Given the description of an element on the screen output the (x, y) to click on. 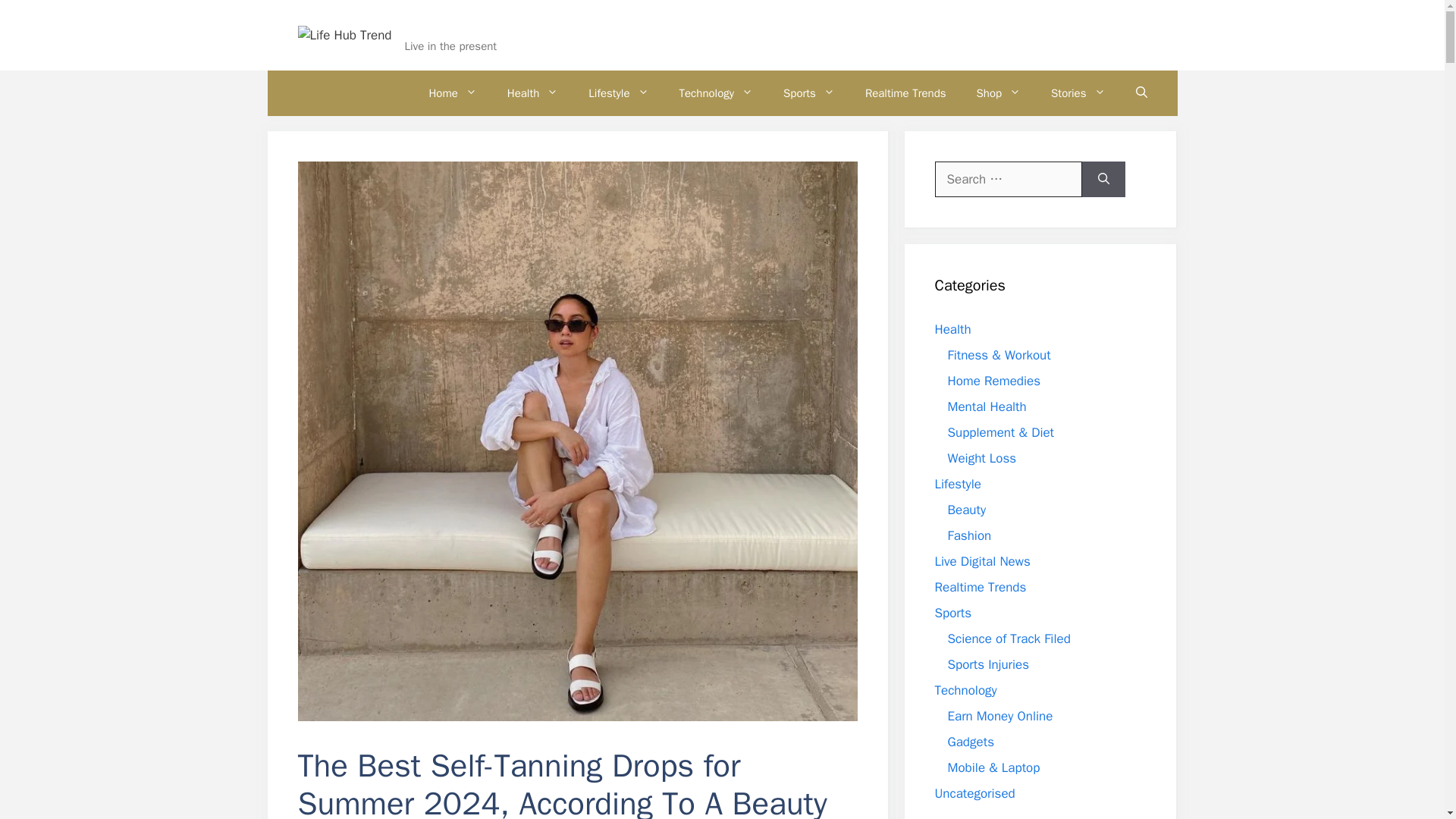
Home (452, 92)
Realtime Trends (905, 92)
Technology (715, 92)
Shop (998, 92)
Stories (1077, 92)
Health (532, 92)
Lifestyle (618, 92)
Search for: (1007, 178)
Sports (809, 92)
Life Hub Trend (464, 25)
